Given the description of an element on the screen output the (x, y) to click on. 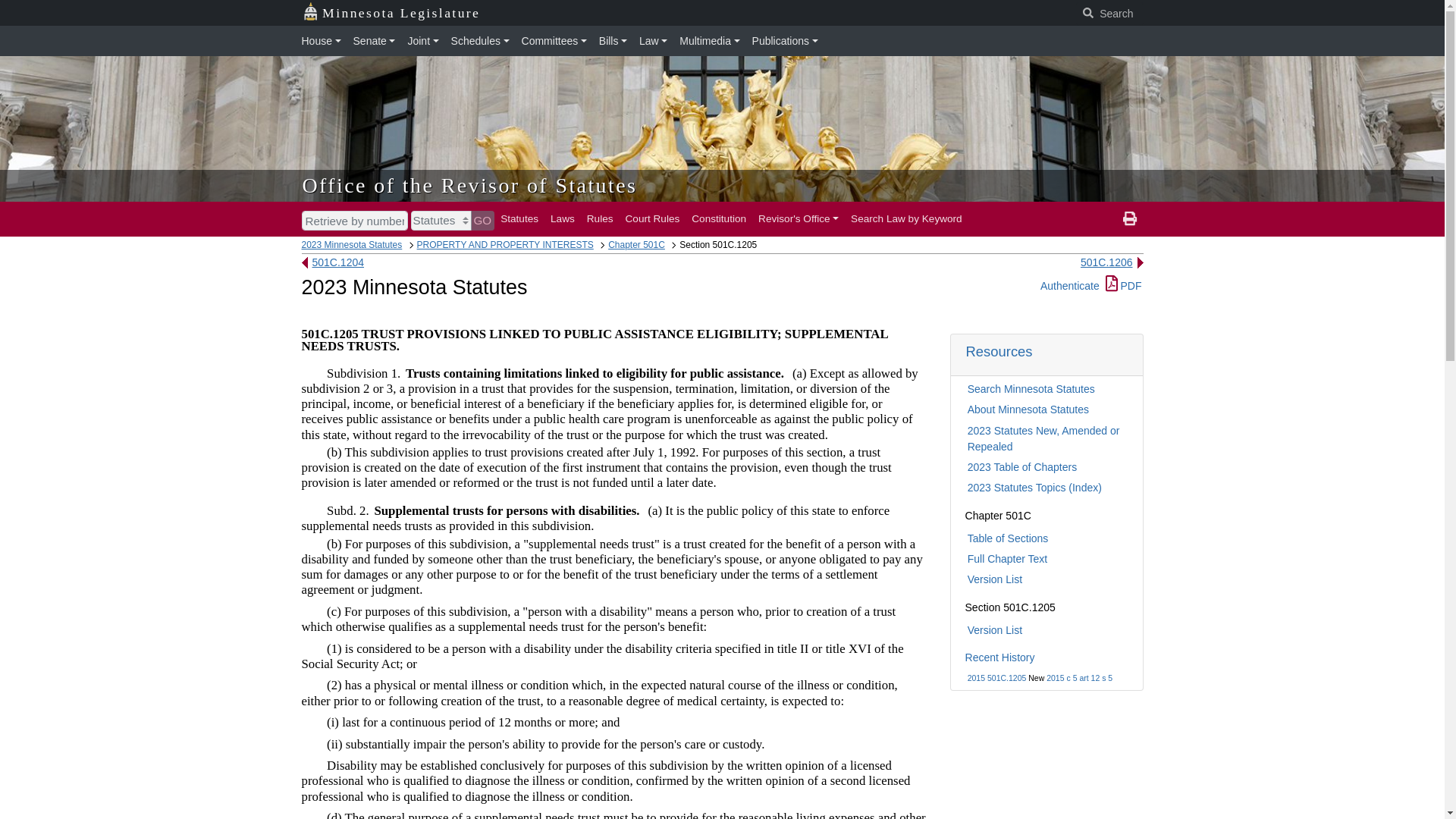
Senate (374, 40)
Search (1108, 13)
Minnesota Legislature (390, 12)
House (324, 40)
Print (1129, 219)
